Given the description of an element on the screen output the (x, y) to click on. 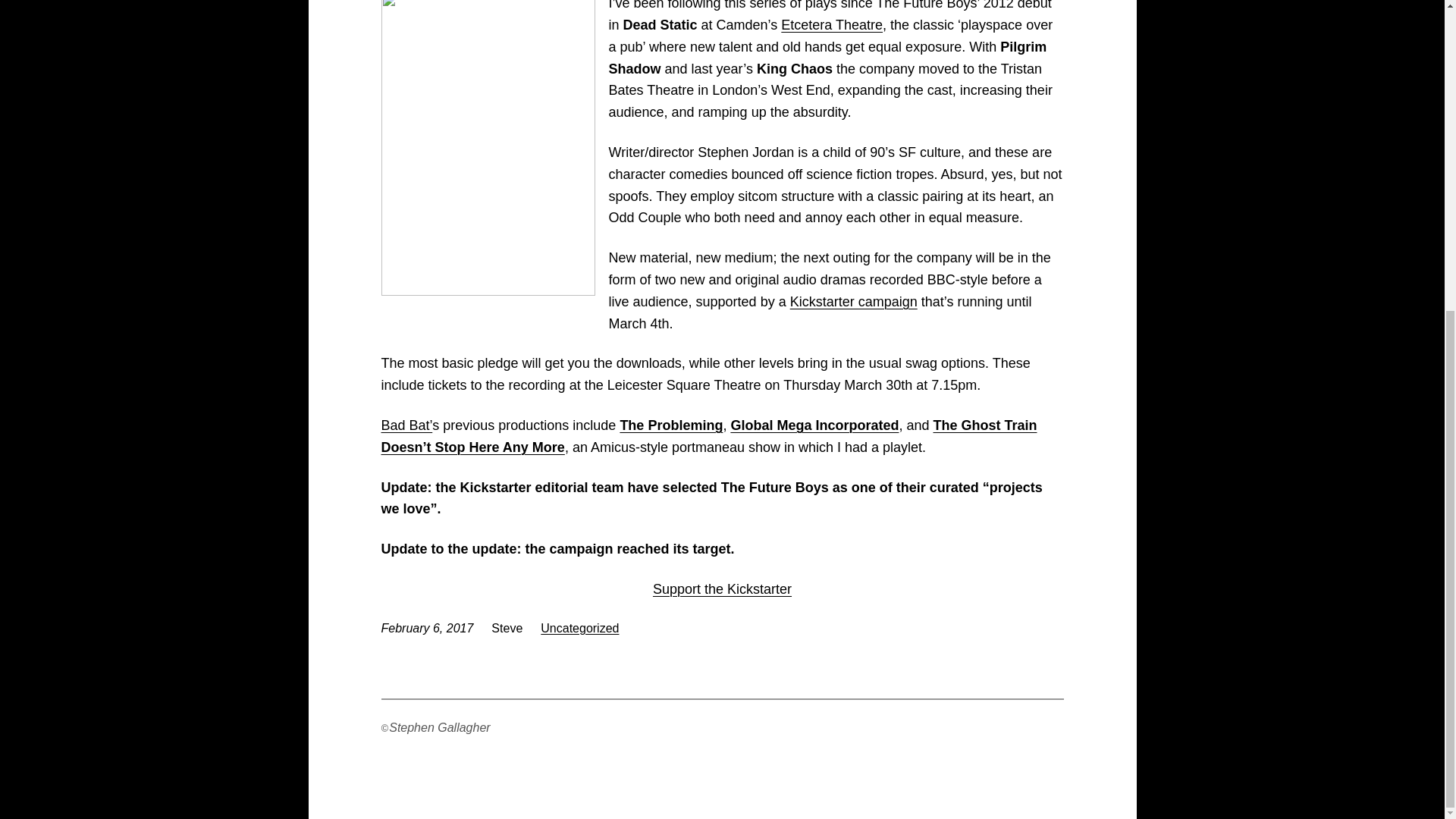
Support the Kickstarter (722, 589)
Kickstarter campaign (853, 301)
Uncategorized (579, 627)
Global Mega Incorporated (814, 425)
Etcetera Theatre (831, 24)
The Probleming (671, 425)
